Given the description of an element on the screen output the (x, y) to click on. 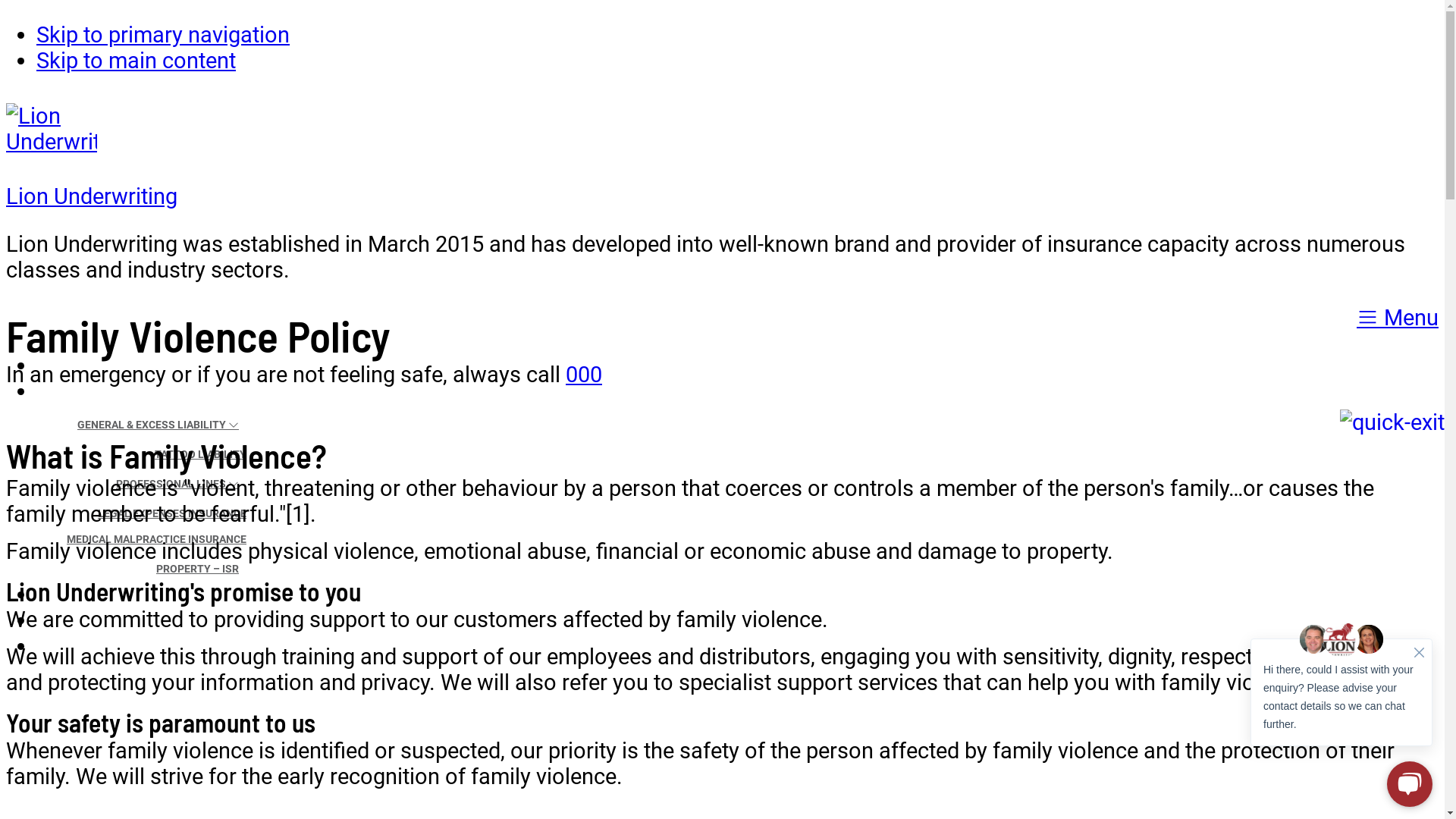
NEWS Element type: text (1411, 614)
LEGAL EXPENSES INSURANCE Element type: text (171, 513)
TATTOO LIABILITY Element type: text (200, 453)
Lion Underwriting Element type: text (91, 196)
Skip to primary navigation Element type: text (162, 34)
Menu Element type: text (1397, 317)
Skip to main content Element type: text (135, 60)
PRODUCT & SERVICES Element type: text (1359, 385)
WHO WE ARE Element type: text (1392, 359)
quick-exit Element type: hover (1391, 422)
IMPORTANT DOCUMENTS Element type: text (1356, 588)
GENERAL & EXCESS LIABILITY Element type: text (158, 424)
PROFESSIONAL LINES Element type: text (177, 483)
CONTACT Element type: text (1400, 640)
MEDICAL MALPRACTICE INSURANCE Element type: text (156, 538)
000 Element type: text (583, 374)
